Given the description of an element on the screen output the (x, y) to click on. 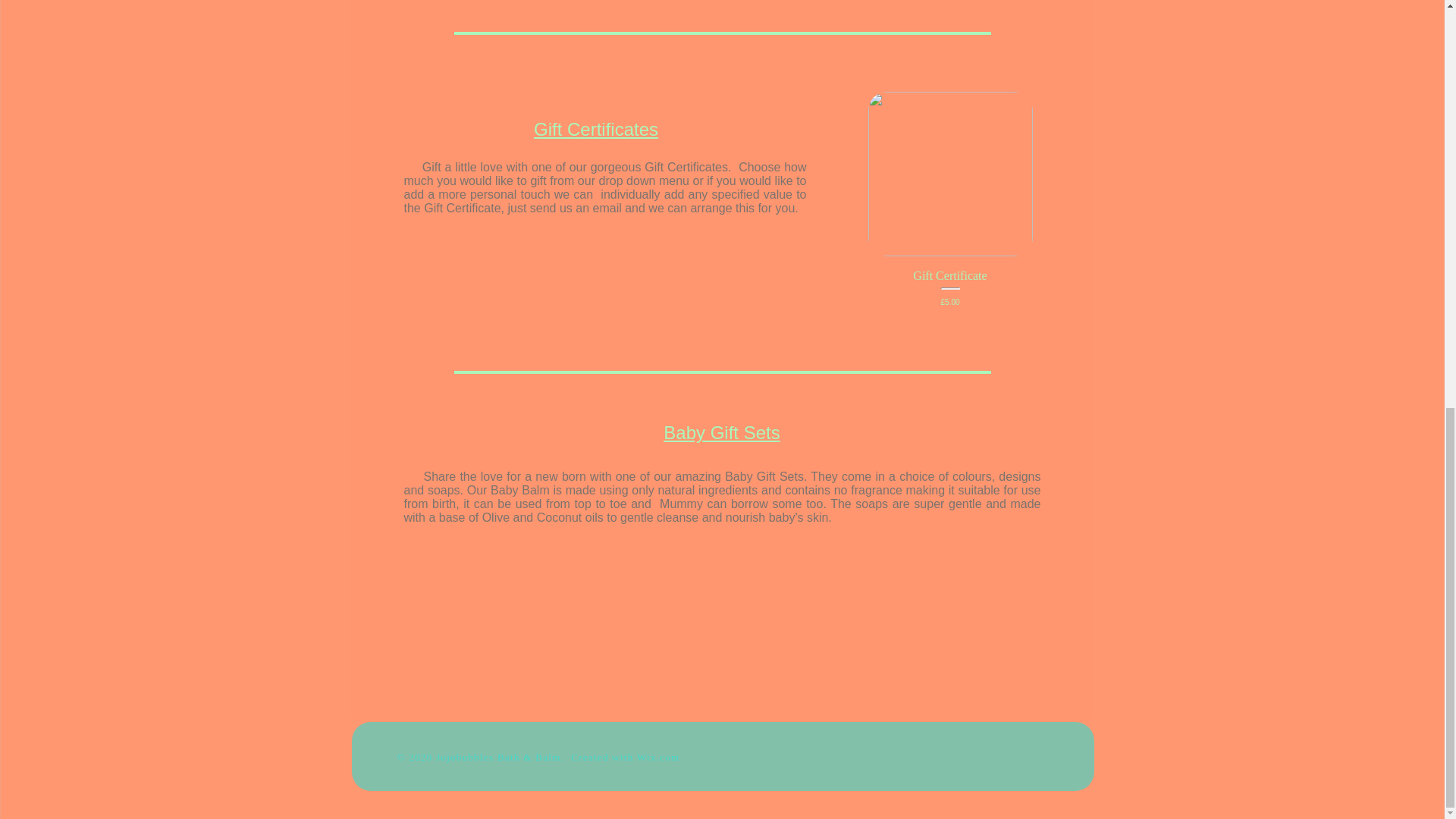
Wix.com (658, 756)
